Given the description of an element on the screen output the (x, y) to click on. 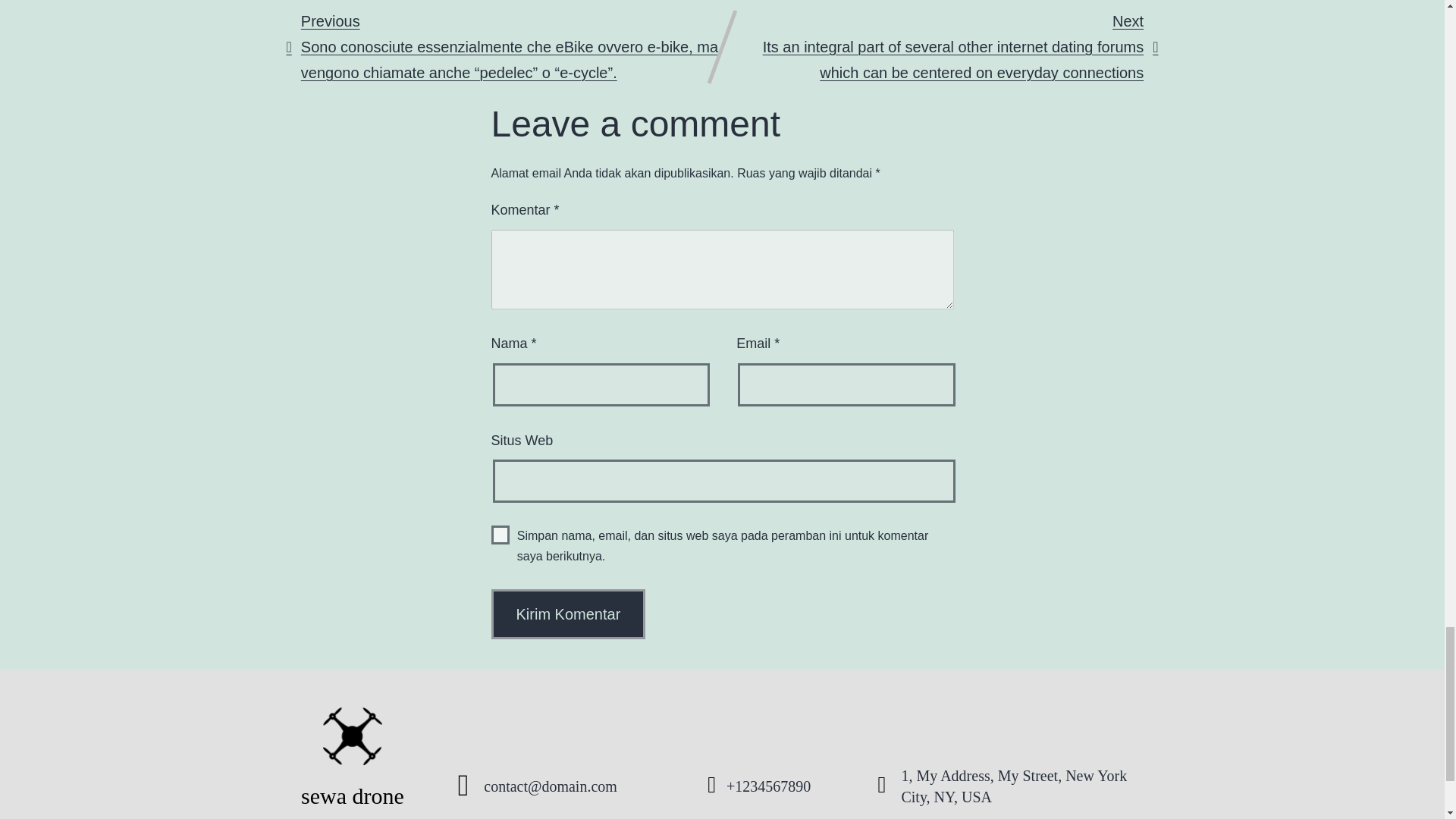
Kirim Komentar (569, 613)
sewa drone profesional (352, 763)
yes (500, 534)
Kirim Komentar (569, 613)
